Given the description of an element on the screen output the (x, y) to click on. 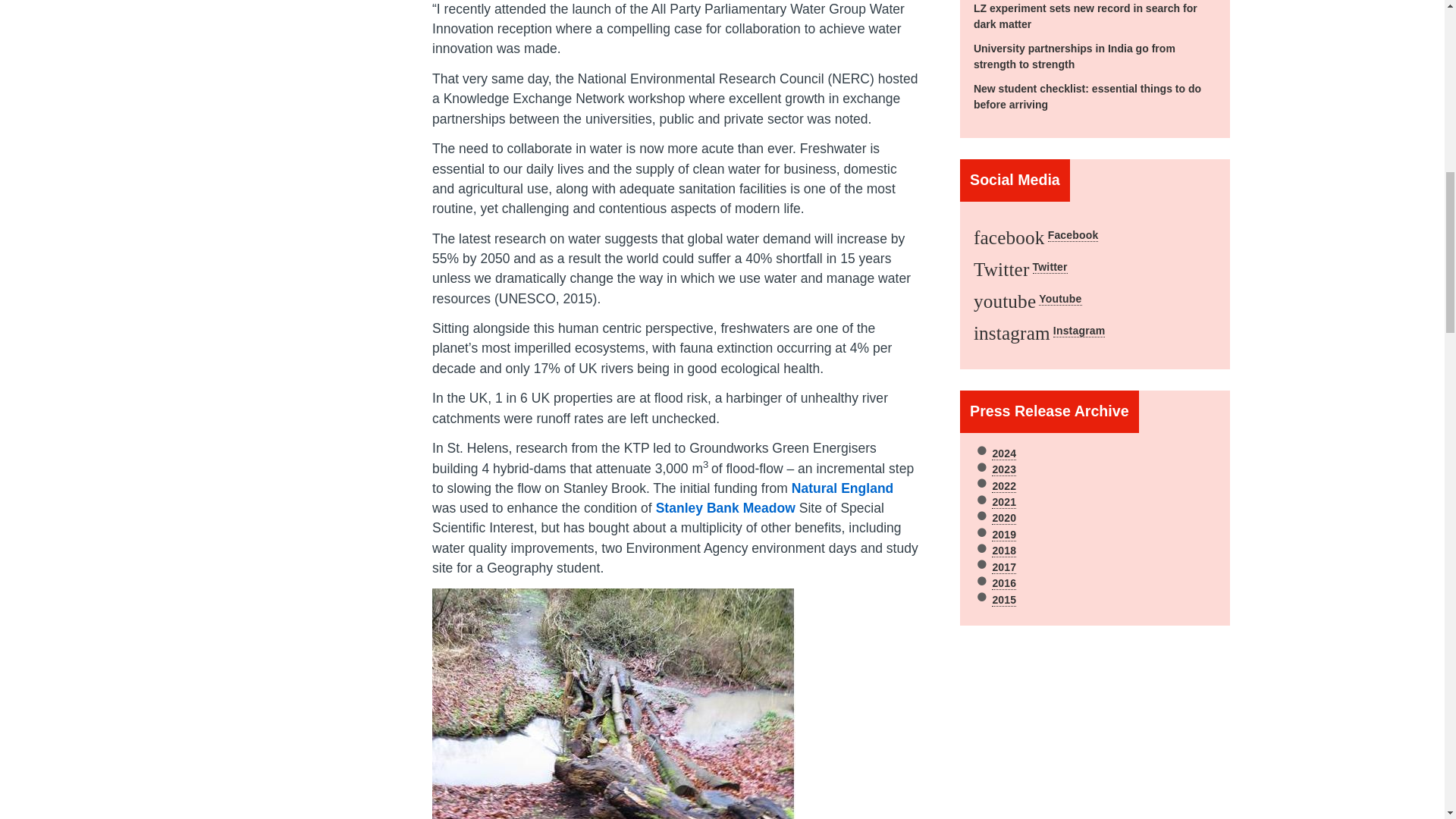
LZ experiment sets new record in search for dark matter (1085, 16)
